Given the description of an element on the screen output the (x, y) to click on. 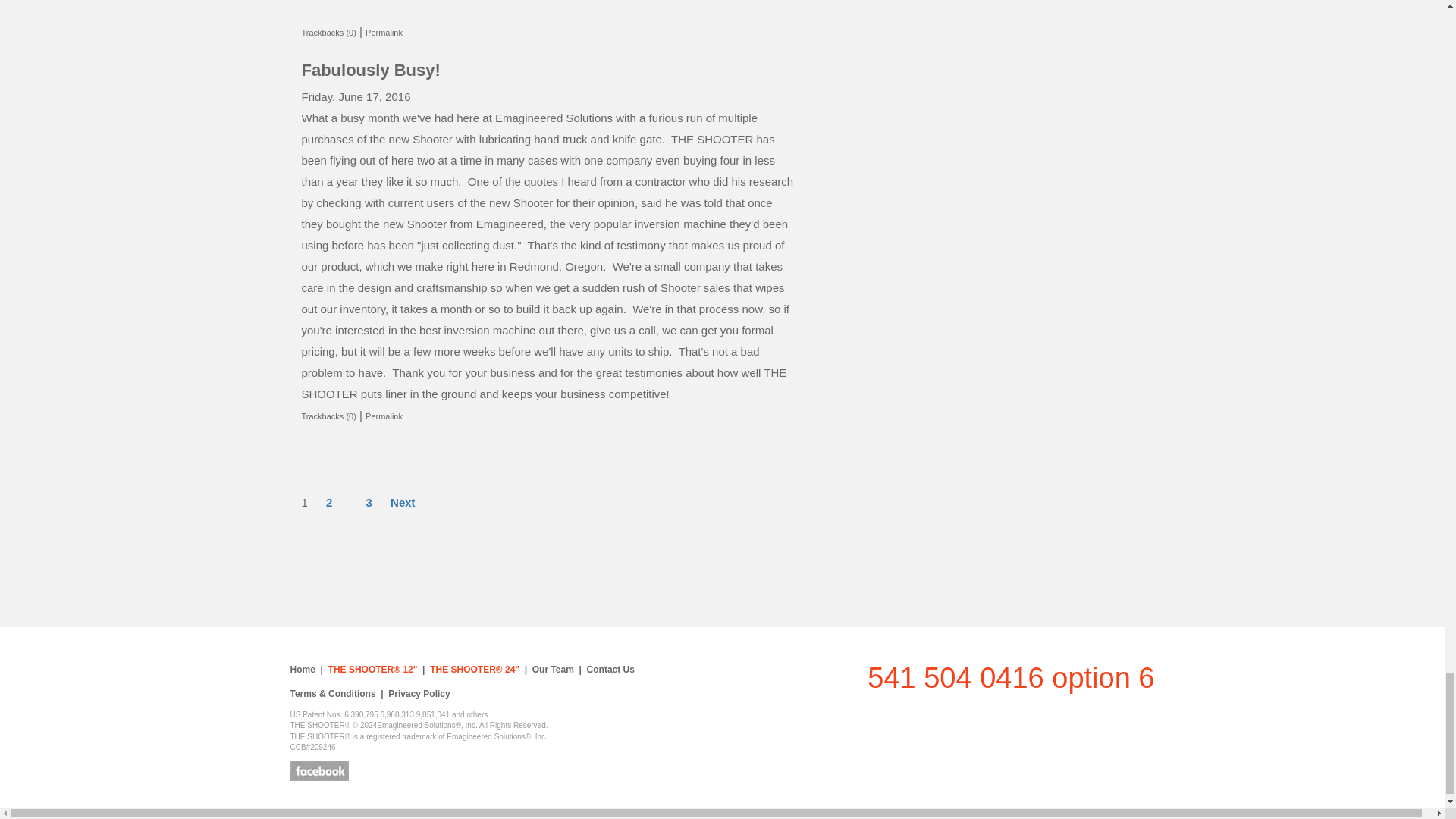
Fabulously Busy! (371, 69)
Fabulously Busy! (371, 69)
Permalink (384, 31)
